Given the description of an element on the screen output the (x, y) to click on. 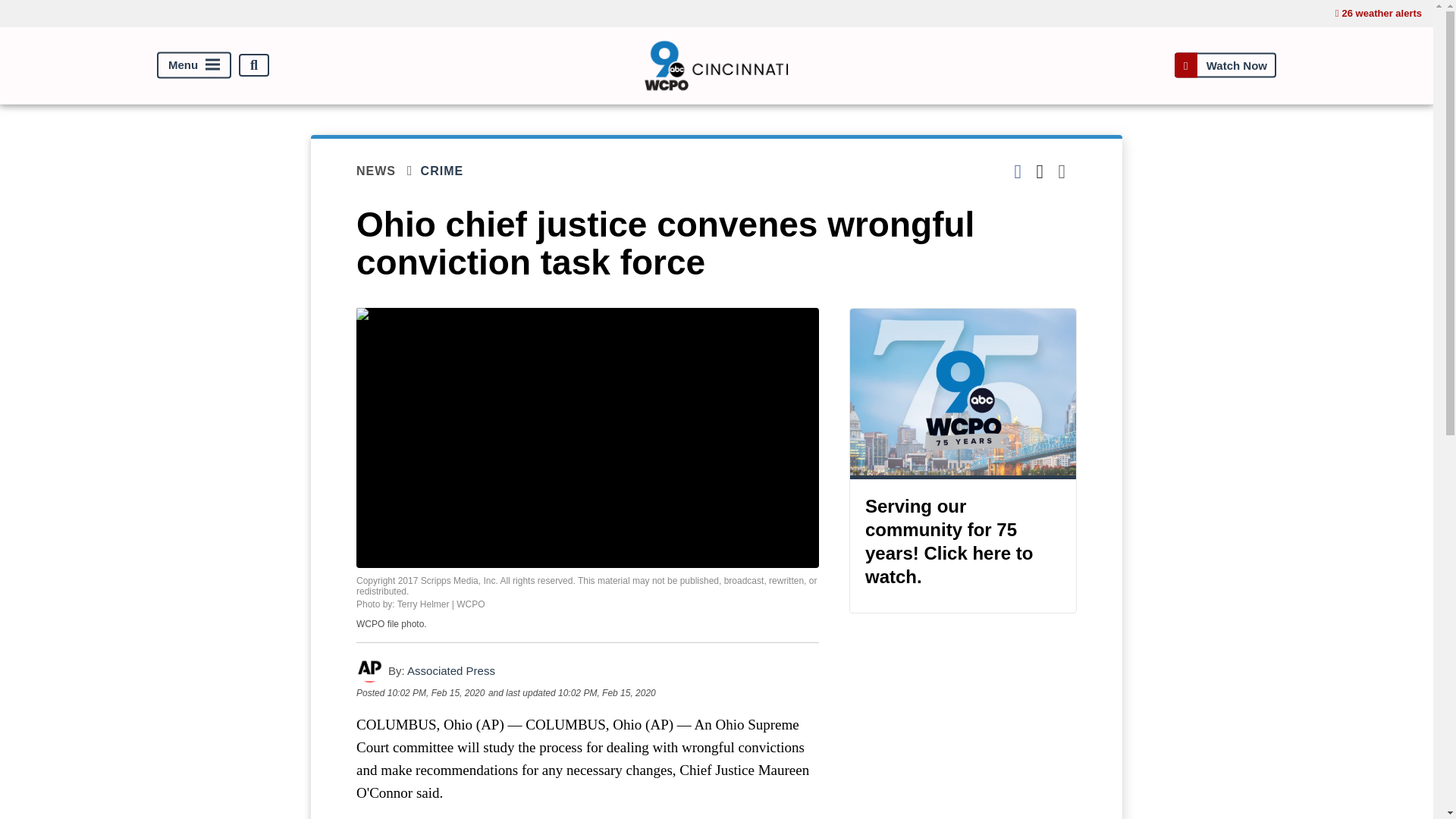
Watch Now (1224, 65)
Menu (194, 65)
